Given the description of an element on the screen output the (x, y) to click on. 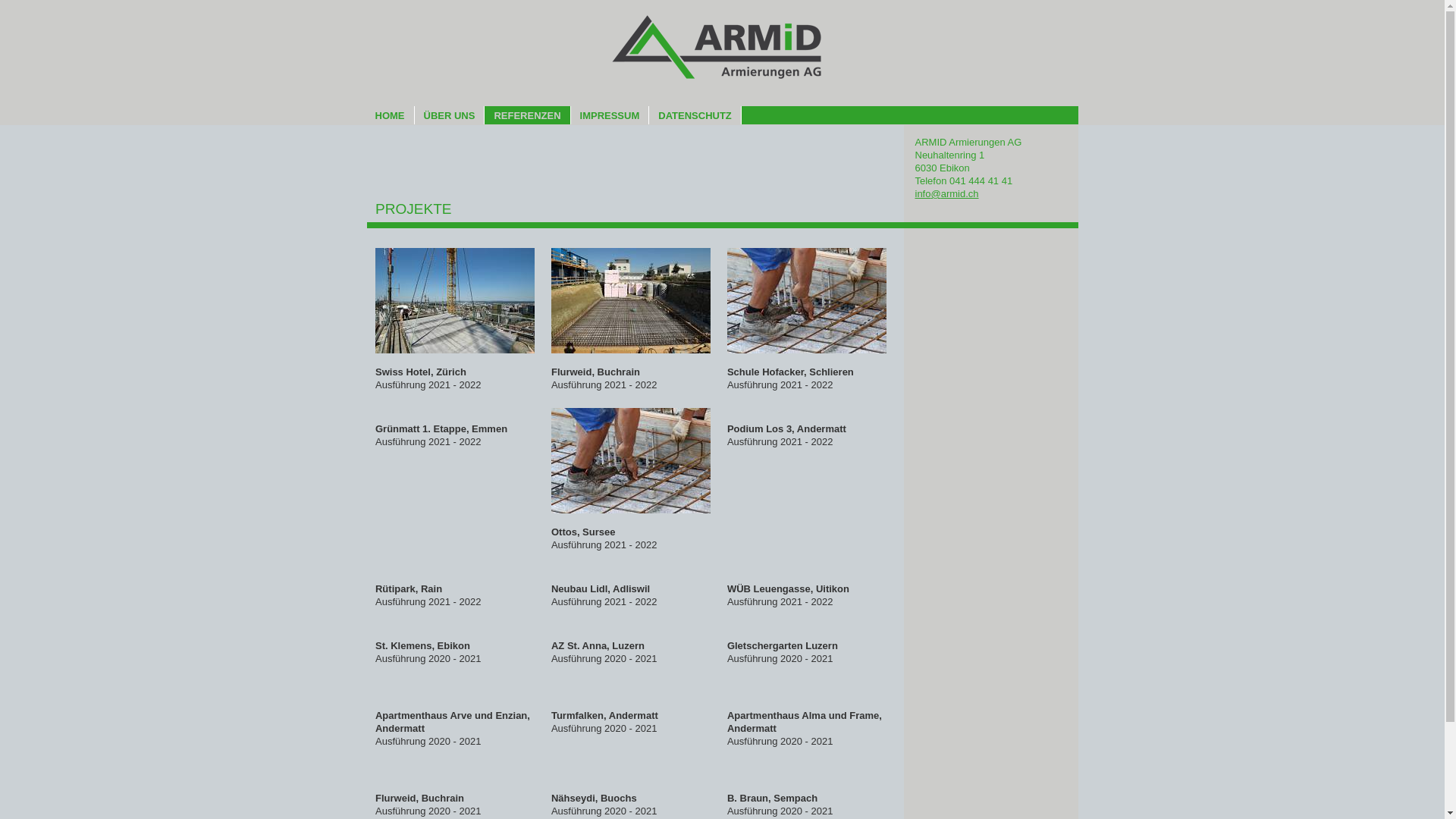
info@armid.ch Element type: text (946, 193)
DATENSCHUTZ Element type: text (695, 115)
IMPRESSUM Element type: text (610, 115)
REFERENZEN Element type: text (527, 115)
HOME Element type: text (389, 115)
